Given the description of an element on the screen output the (x, y) to click on. 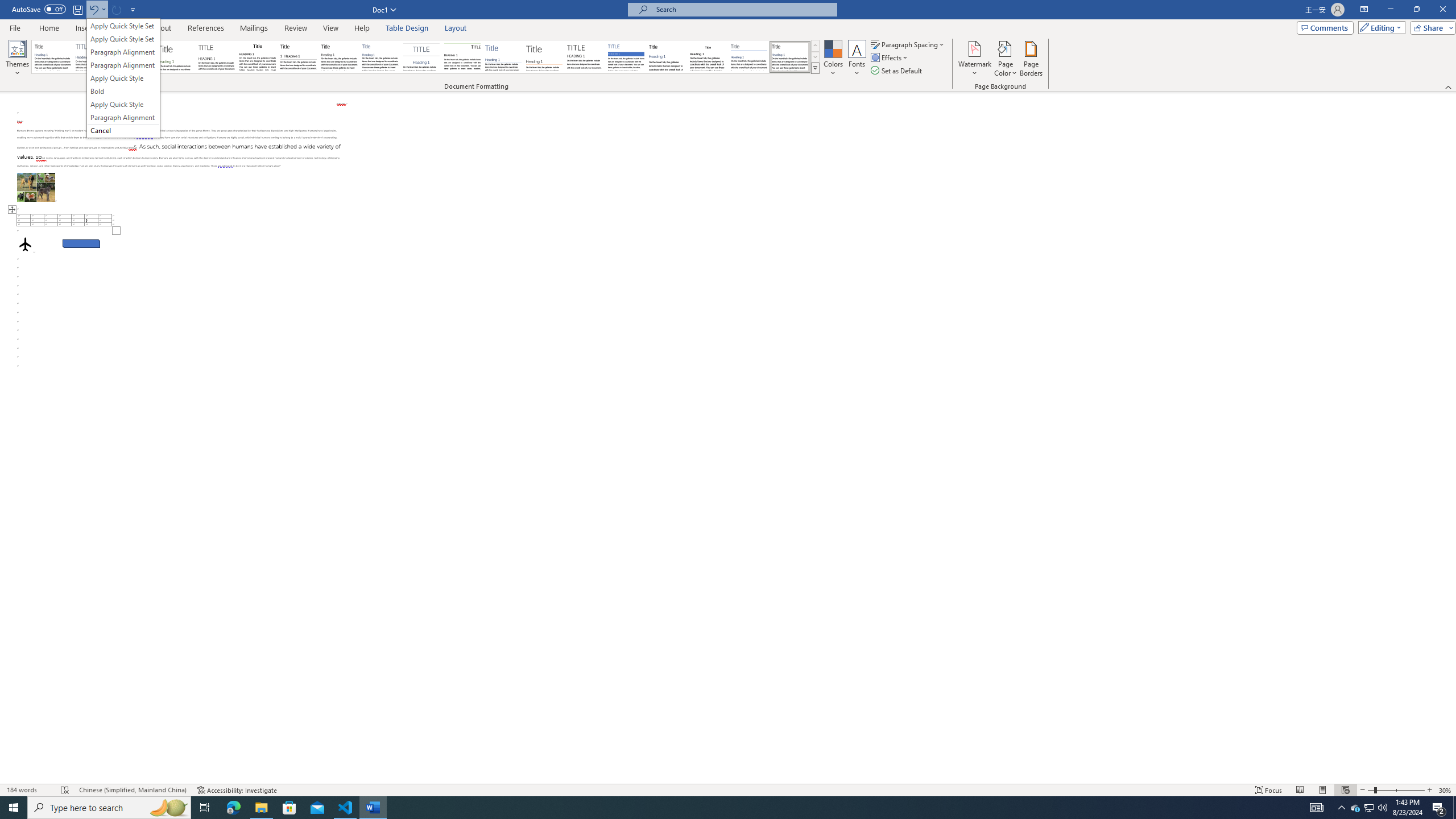
Black & White (Numbered) (298, 56)
Watermark (974, 58)
Can't Repeat (117, 9)
Style Set (814, 67)
Word - 1 running window (373, 807)
Black & White (Capitalized) (216, 56)
